Given the description of an element on the screen output the (x, y) to click on. 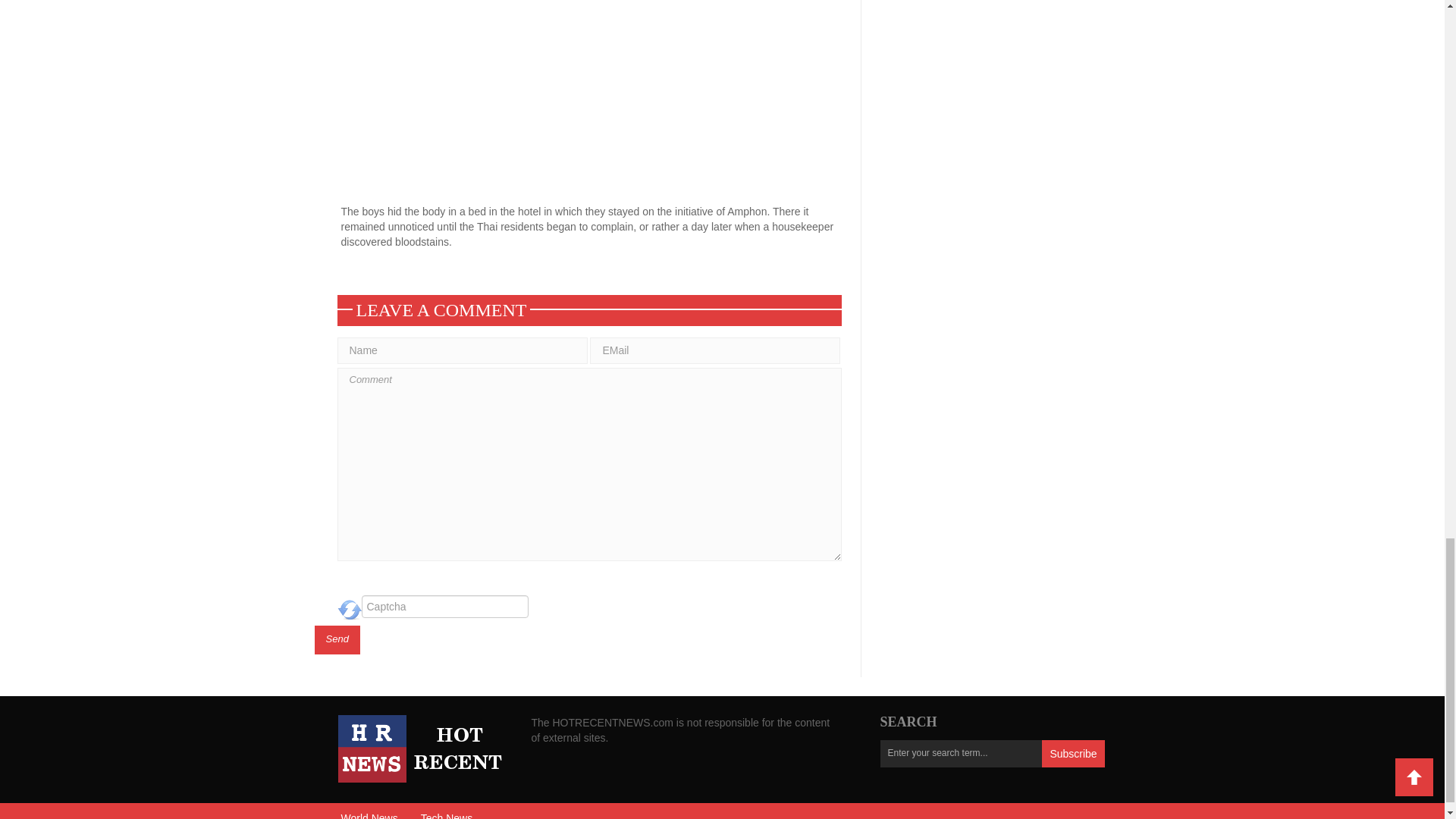
Enter your search term... (960, 753)
Send (336, 639)
Subscribe (1072, 753)
Send (336, 639)
